Given the description of an element on the screen output the (x, y) to click on. 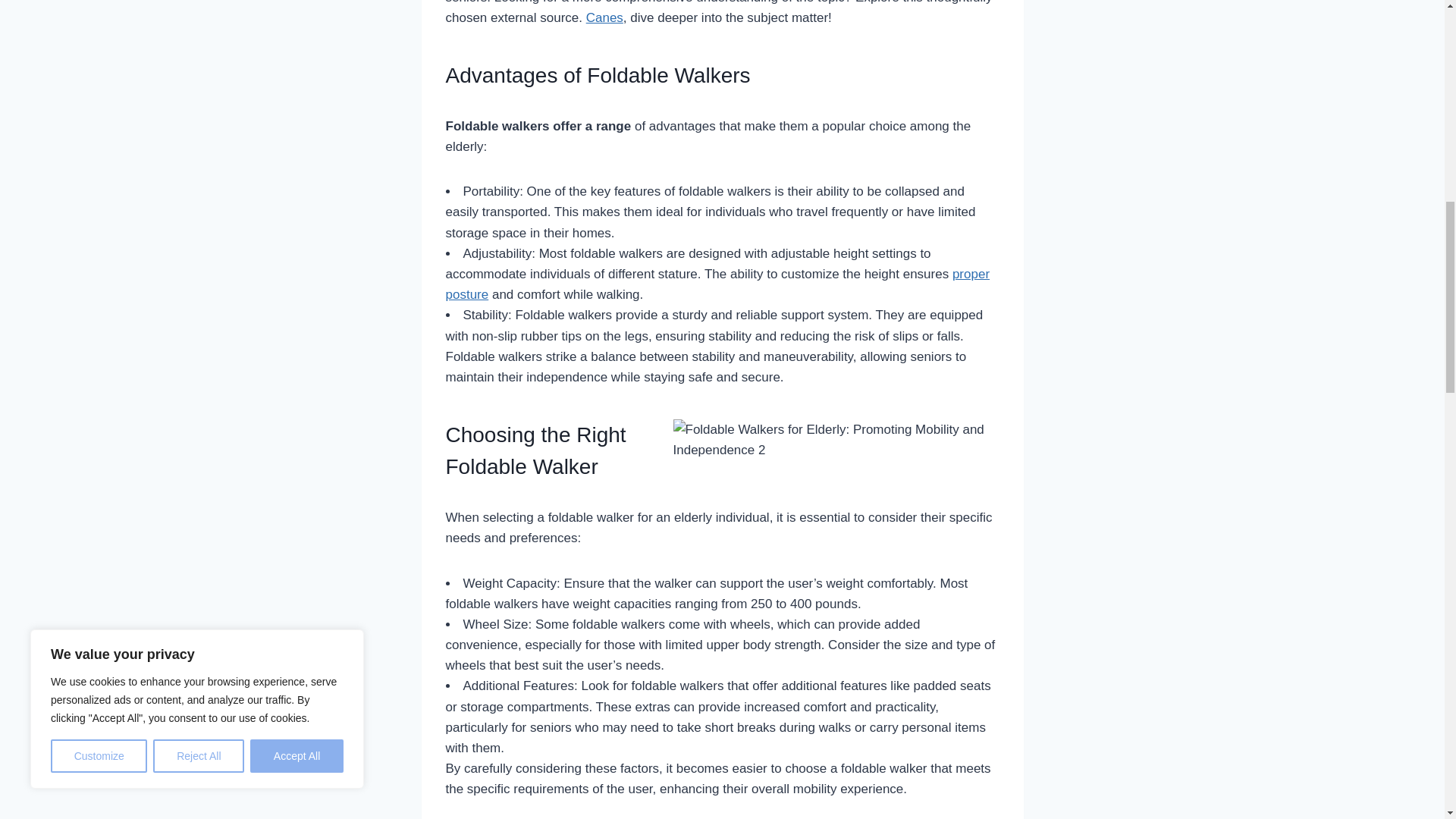
Canes (604, 17)
proper posture (717, 284)
